Given the description of an element on the screen output the (x, y) to click on. 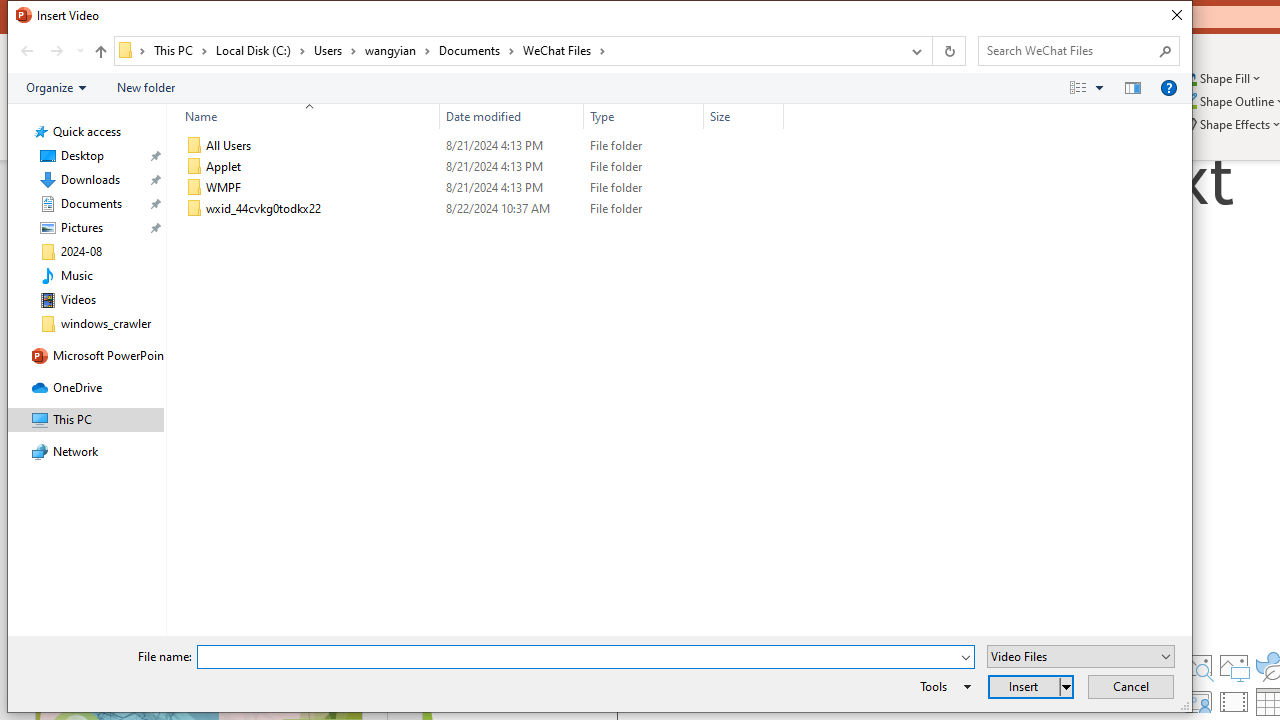
Tools (942, 686)
Previous Locations (914, 51)
Navigation buttons (50, 51)
Recent locations (79, 51)
Type (643, 115)
Size (743, 209)
Back (Alt + Left Arrow) (26, 51)
Tools (942, 686)
Local Disk (C:) (260, 50)
Date modified (511, 115)
File name: (577, 657)
Organize (56, 87)
Class: UIImage (194, 209)
